Given the description of an element on the screen output the (x, y) to click on. 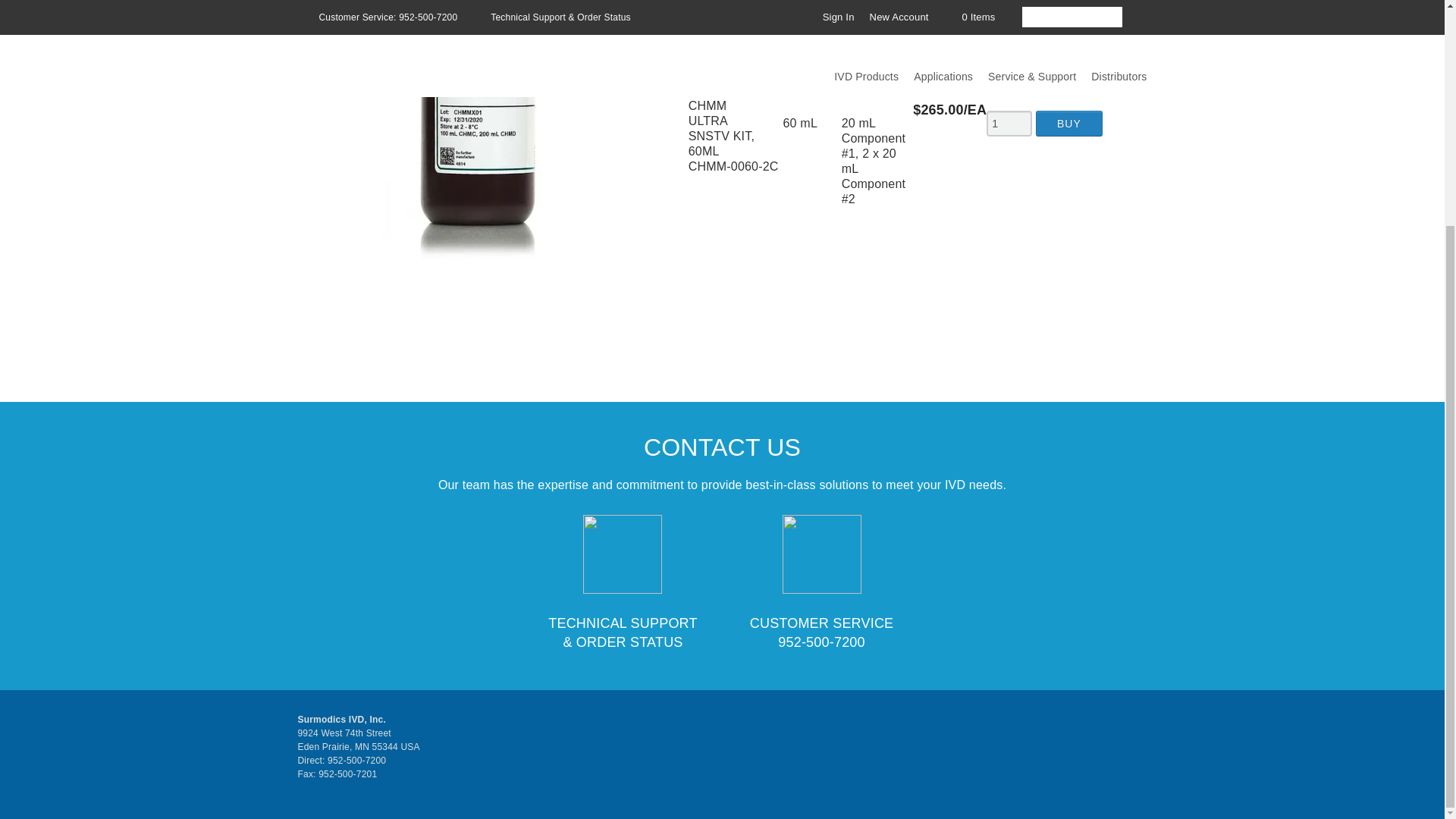
CHMM - CHMM ULTRA SNSTV KIT (480, 146)
Buy (1068, 123)
1 (1009, 122)
